Given the description of an element on the screen output the (x, y) to click on. 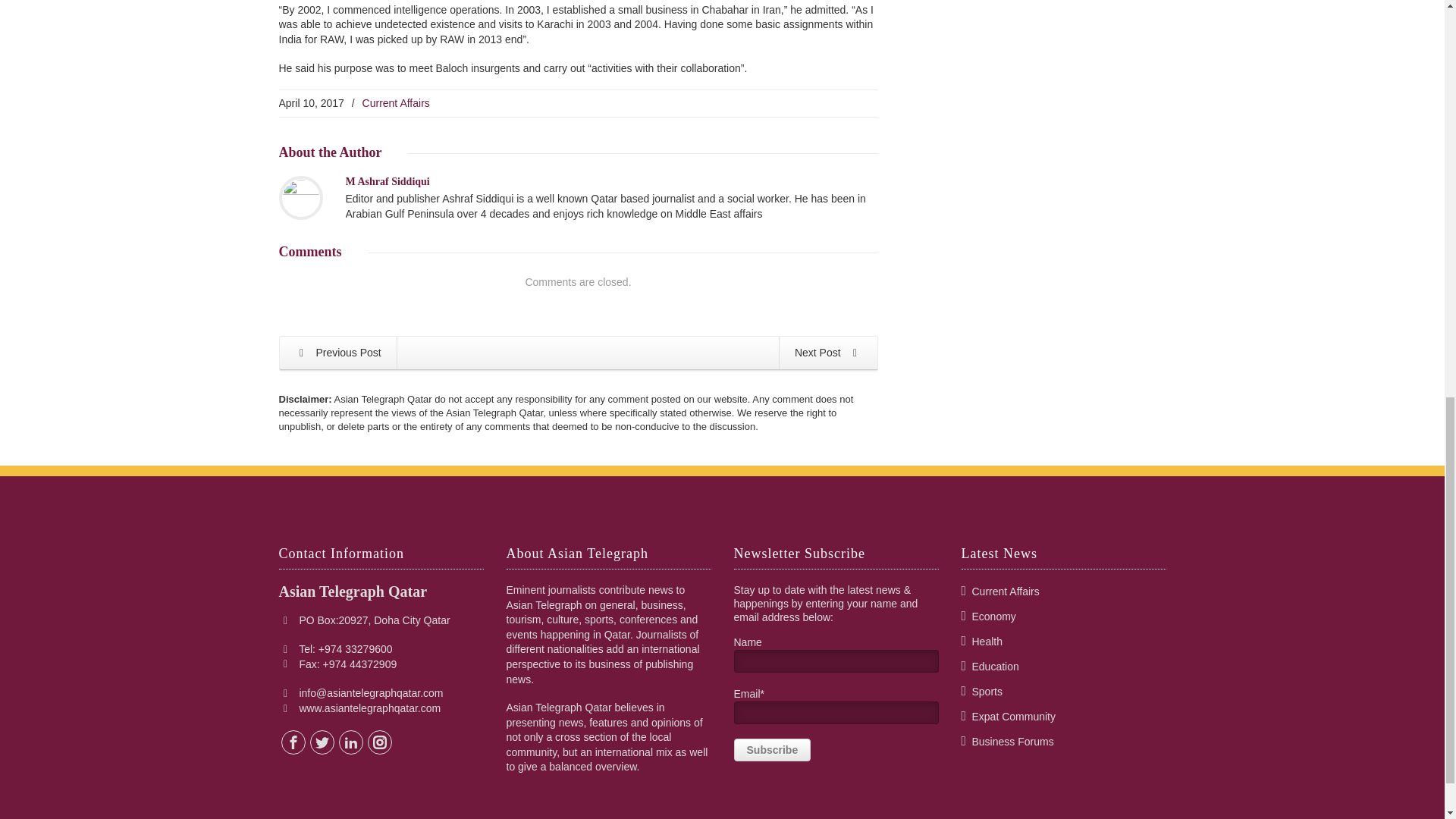
Previous Post (337, 352)
Author's Posts (387, 181)
Twitter (322, 742)
M Ashraf Siddiqui (387, 181)
Facebook (293, 742)
Koreans Eyes First Smart Parking Private Contracts in Qatar (337, 352)
Instagram (379, 742)
Linkedin (350, 742)
Current Affairs (395, 102)
Next Post (828, 352)
